Given the description of an element on the screen output the (x, y) to click on. 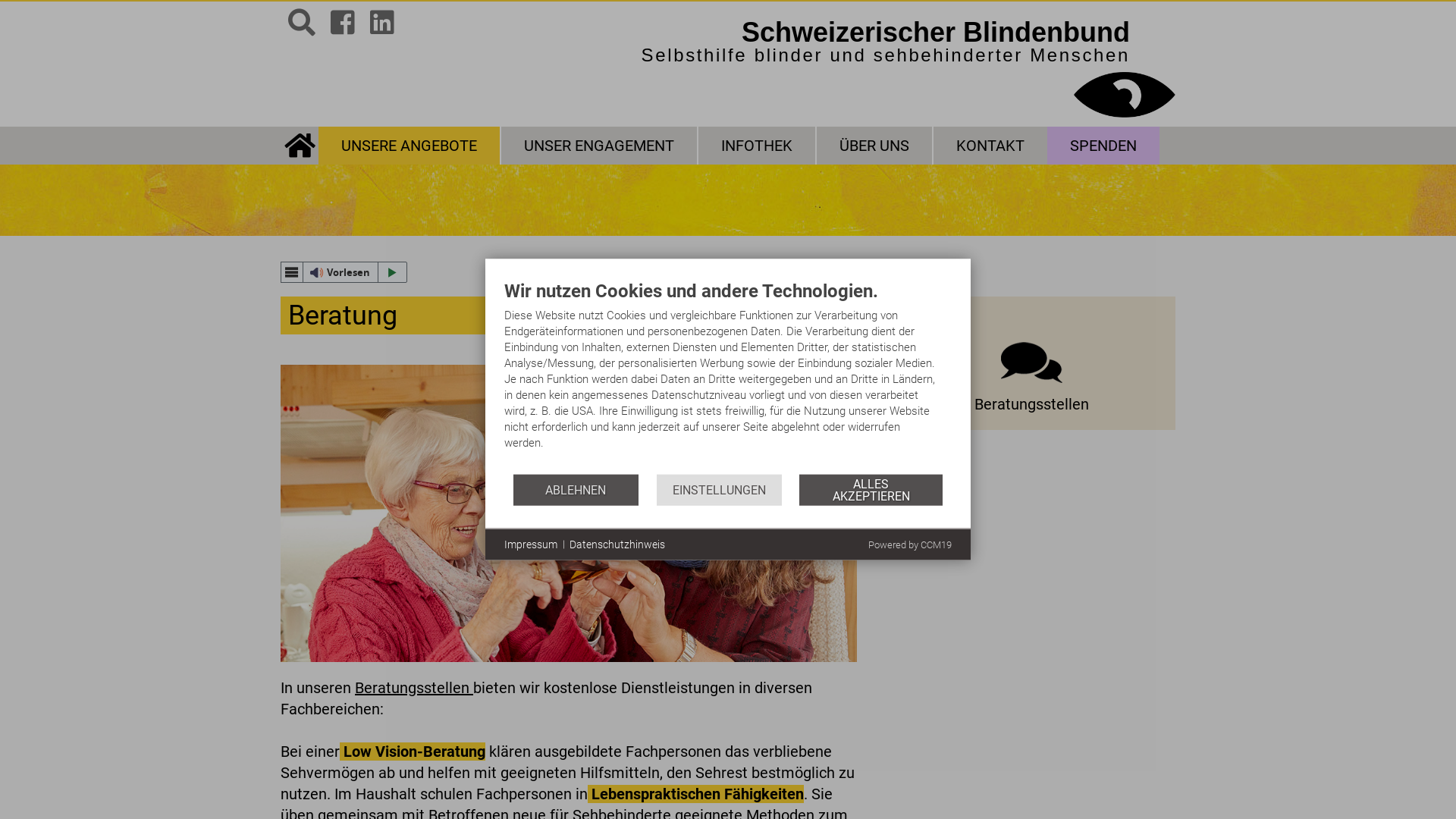
STARTSEITE Element type: text (299, 145)
KONTAKT Element type: text (990, 145)
EINSTELLUNGEN Element type: text (718, 489)
Hotline: Gemeinsam gegen Einsamkeit Element type: hover (405, 24)
UNSERE ANGEBOTE Element type: text (409, 145)
Beratungsstellen Element type: hover (1031, 362)
INFOTHEK Element type: text (757, 145)
Beratungsstellen Element type: text (1031, 382)
Impressum Element type: text (530, 544)
Vorlesen Element type: text (343, 271)
SPENDEN Element type: text (1103, 145)
Datenschutzhinweis Element type: text (617, 544)
ALLES AKZEPTIEREN Element type: text (870, 489)
ABLEHNEN Element type: text (575, 489)
Beratungsstellen Element type: text (413, 687)
Powered by CCM19 Element type: text (909, 543)
UNSER ENGAGEMENT Element type: text (599, 145)
